Given the description of an element on the screen output the (x, y) to click on. 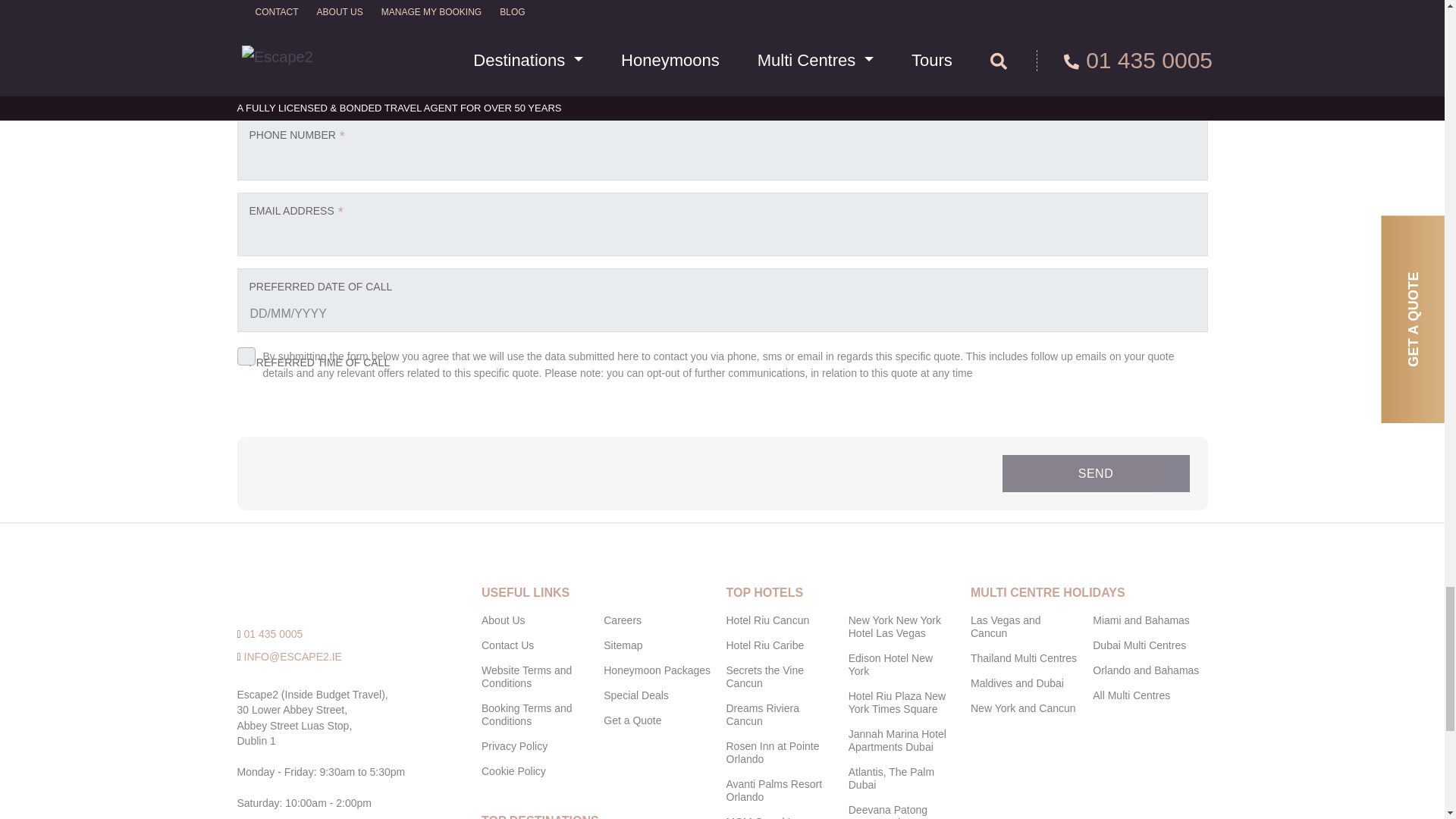
Send (1096, 473)
Escape2 (320, 592)
